Given the description of an element on the screen output the (x, y) to click on. 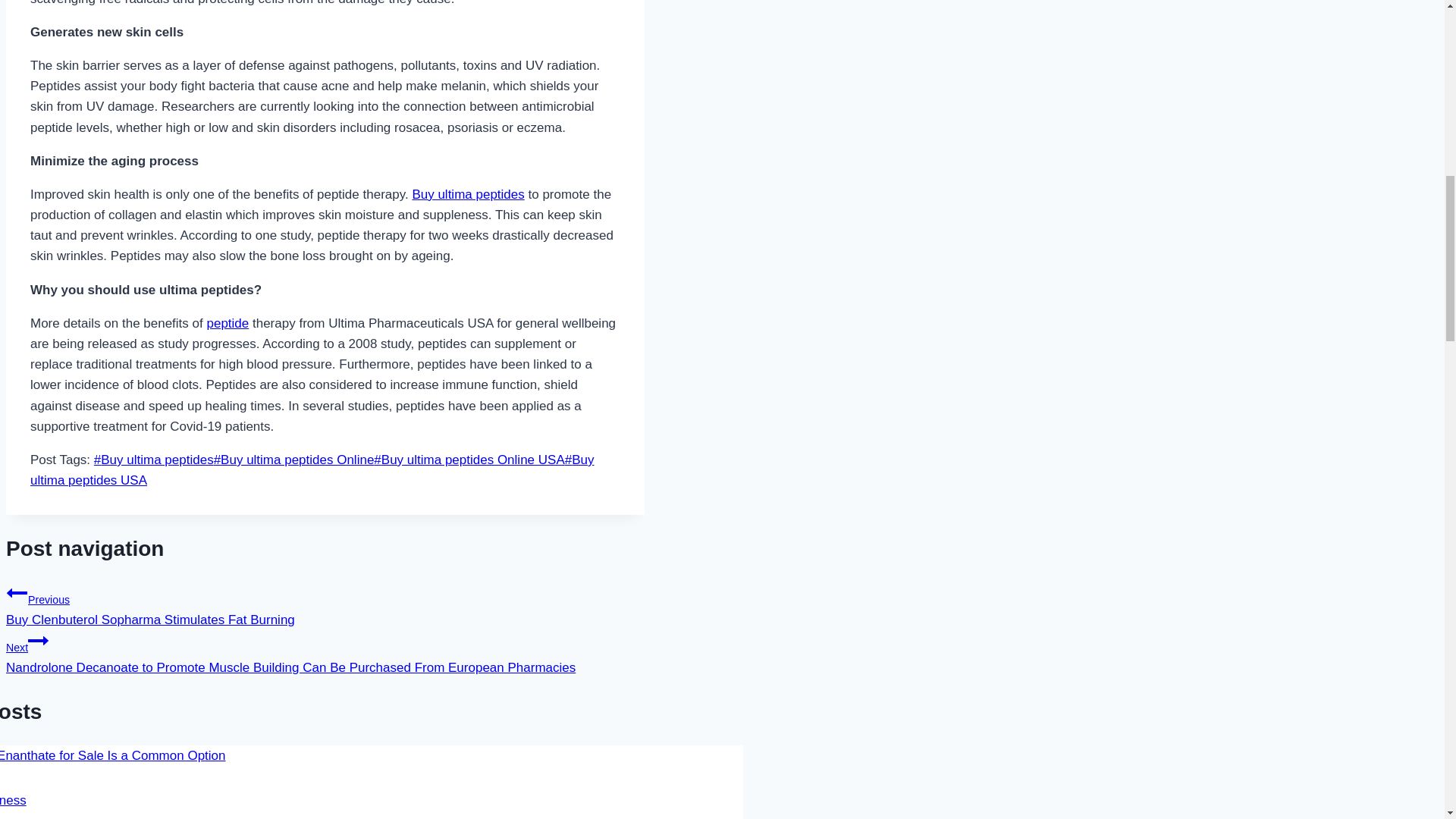
Continue (37, 640)
Buy ultima peptides Online (294, 459)
Buy ultima peptides USA (312, 469)
peptide (227, 323)
Previous (16, 592)
Buy ultima peptides (468, 194)
Buy ultima peptides (154, 459)
Buy ultima peptides Online USA (469, 459)
